Given the description of an element on the screen output the (x, y) to click on. 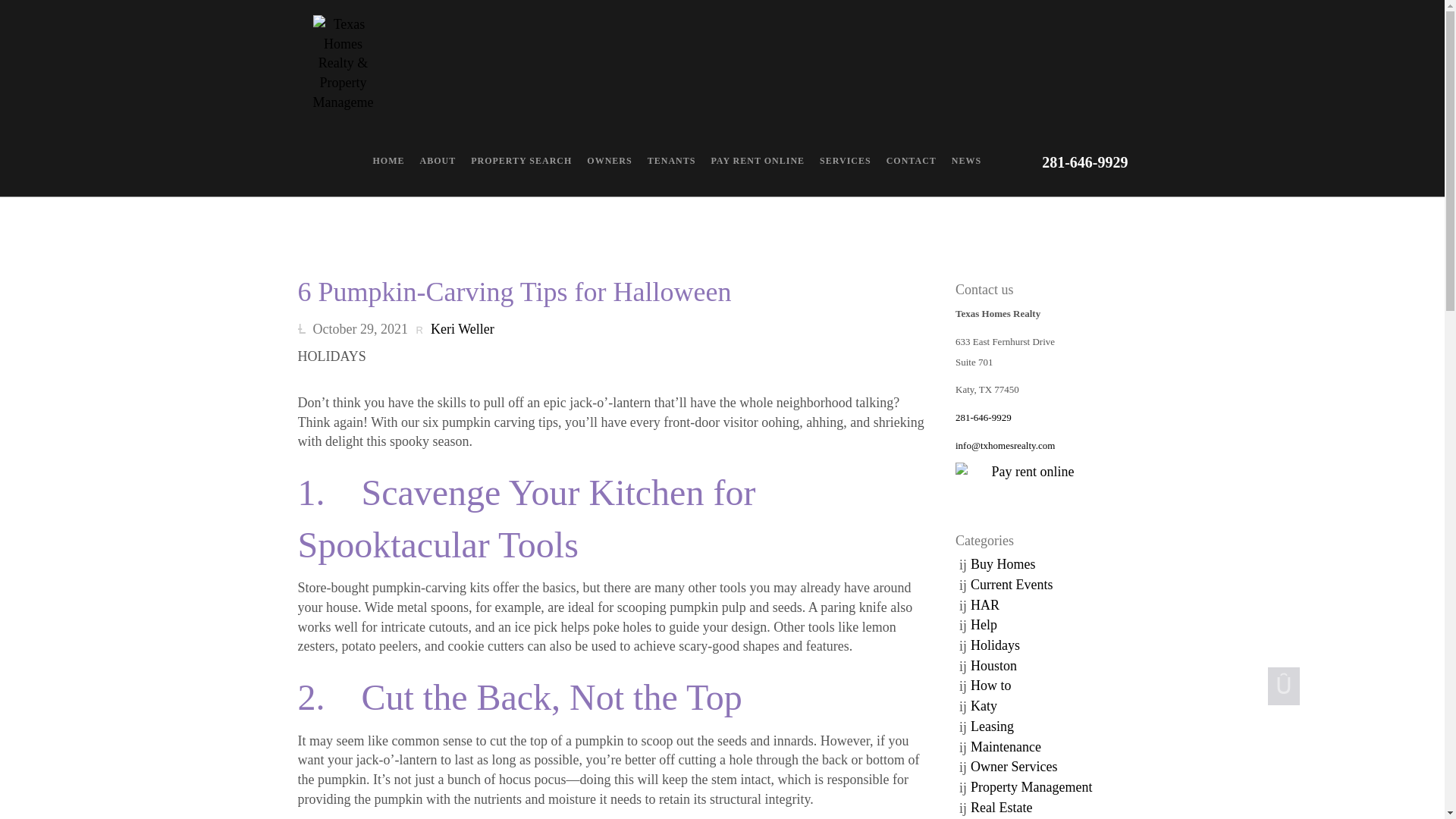
OWNERS (609, 161)
SERVICES (845, 161)
NEWS (965, 161)
TENANTS (671, 161)
CONTACT (911, 161)
HOME (388, 161)
View all posts by Keri Weller (454, 328)
Keri Weller (454, 328)
PROPERTY SEARCH (521, 161)
ABOUT (438, 161)
PAY RENT ONLINE (757, 161)
